Given the description of an element on the screen output the (x, y) to click on. 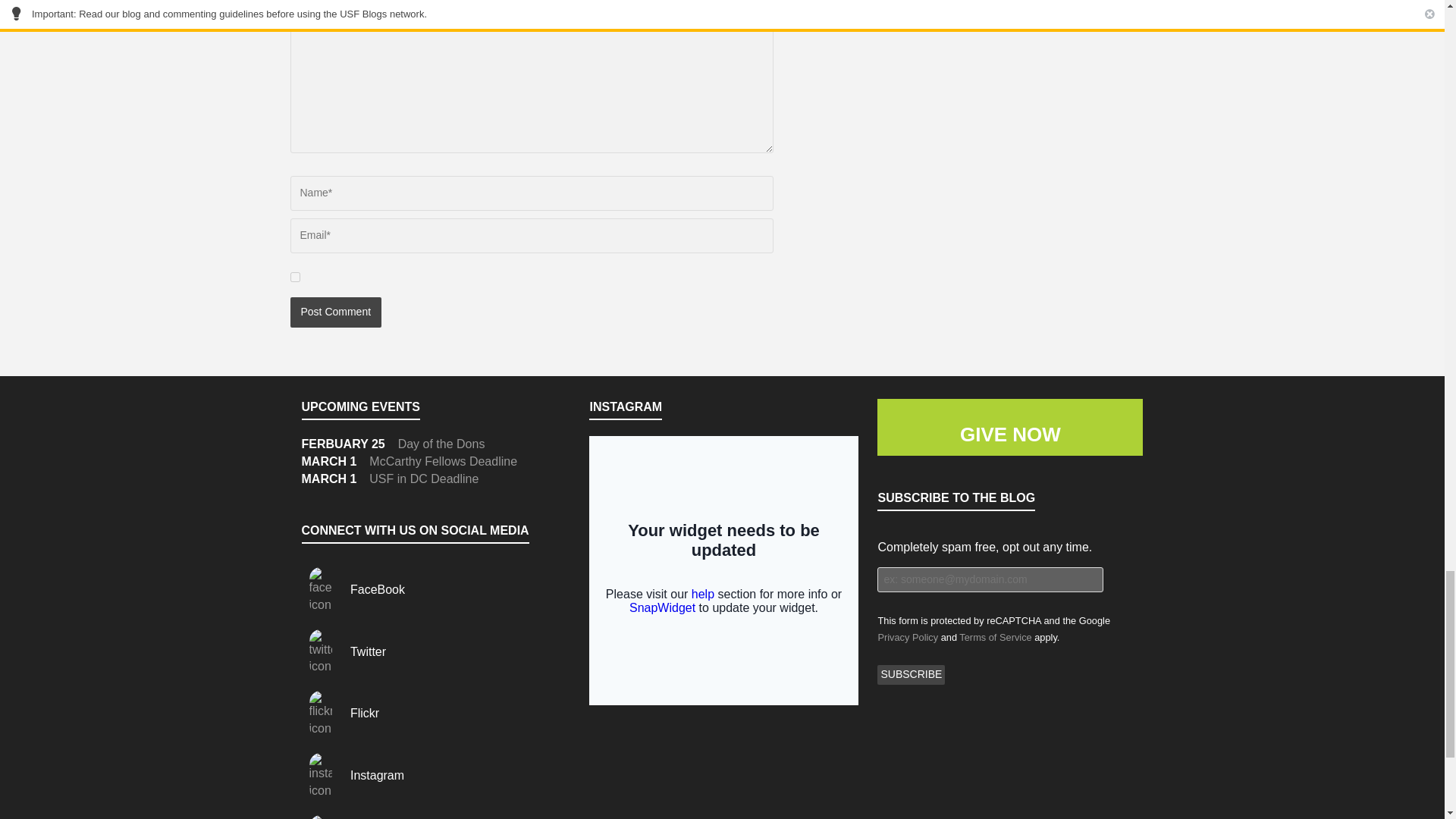
Twitter (344, 651)
SUBSCRIBE (910, 674)
Flickr (340, 712)
FaceBook (353, 589)
yes (294, 276)
Post Comment (335, 312)
Instagram (352, 775)
McCarthy Fellows Deadline (442, 461)
Post Comment (335, 312)
USF in DC Deadline (424, 478)
